Given the description of an element on the screen output the (x, y) to click on. 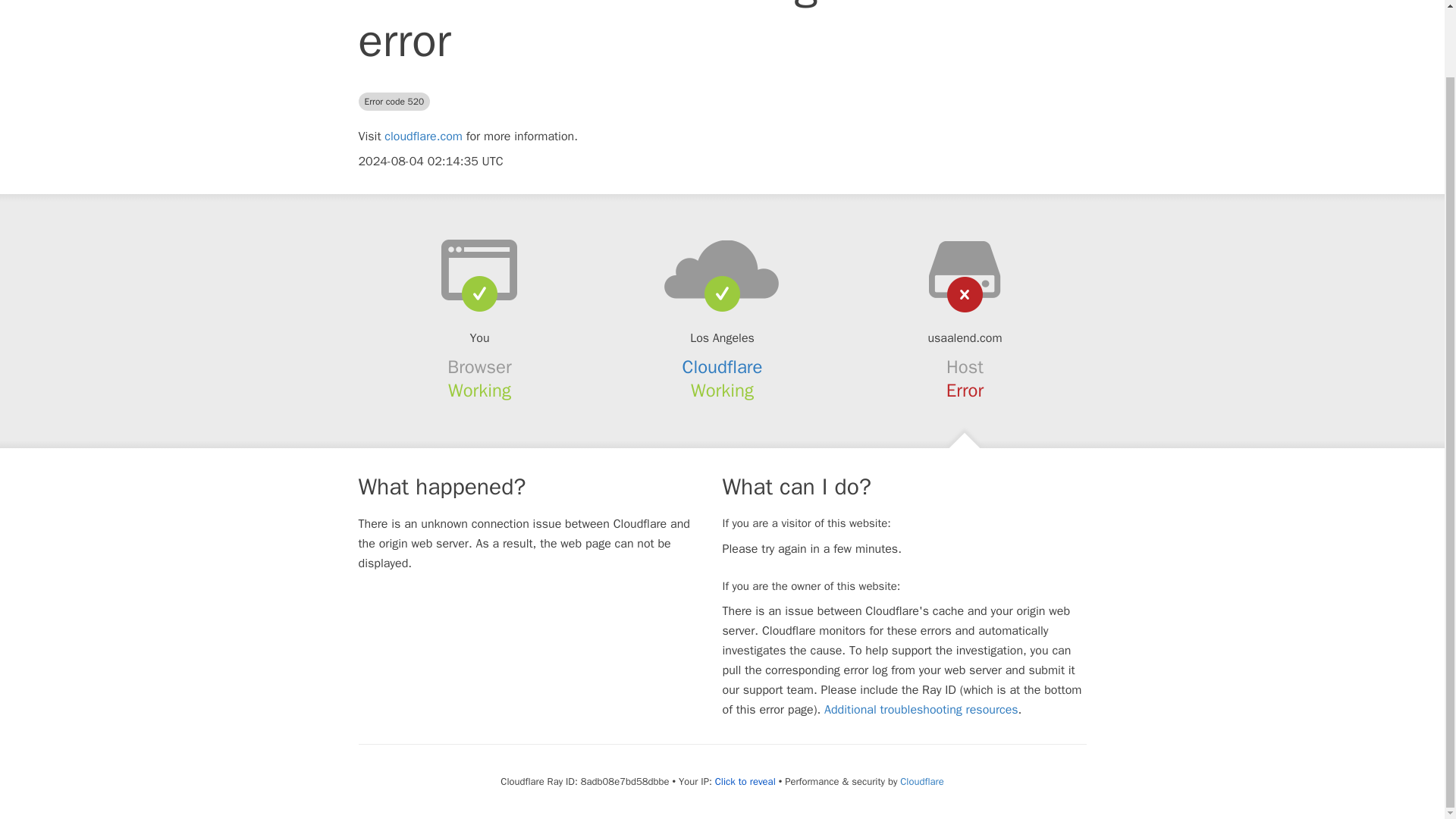
Click to reveal (745, 781)
Additional troubleshooting resources (920, 709)
cloudflare.com (423, 136)
Cloudflare (722, 366)
Cloudflare (921, 780)
